Given the description of an element on the screen output the (x, y) to click on. 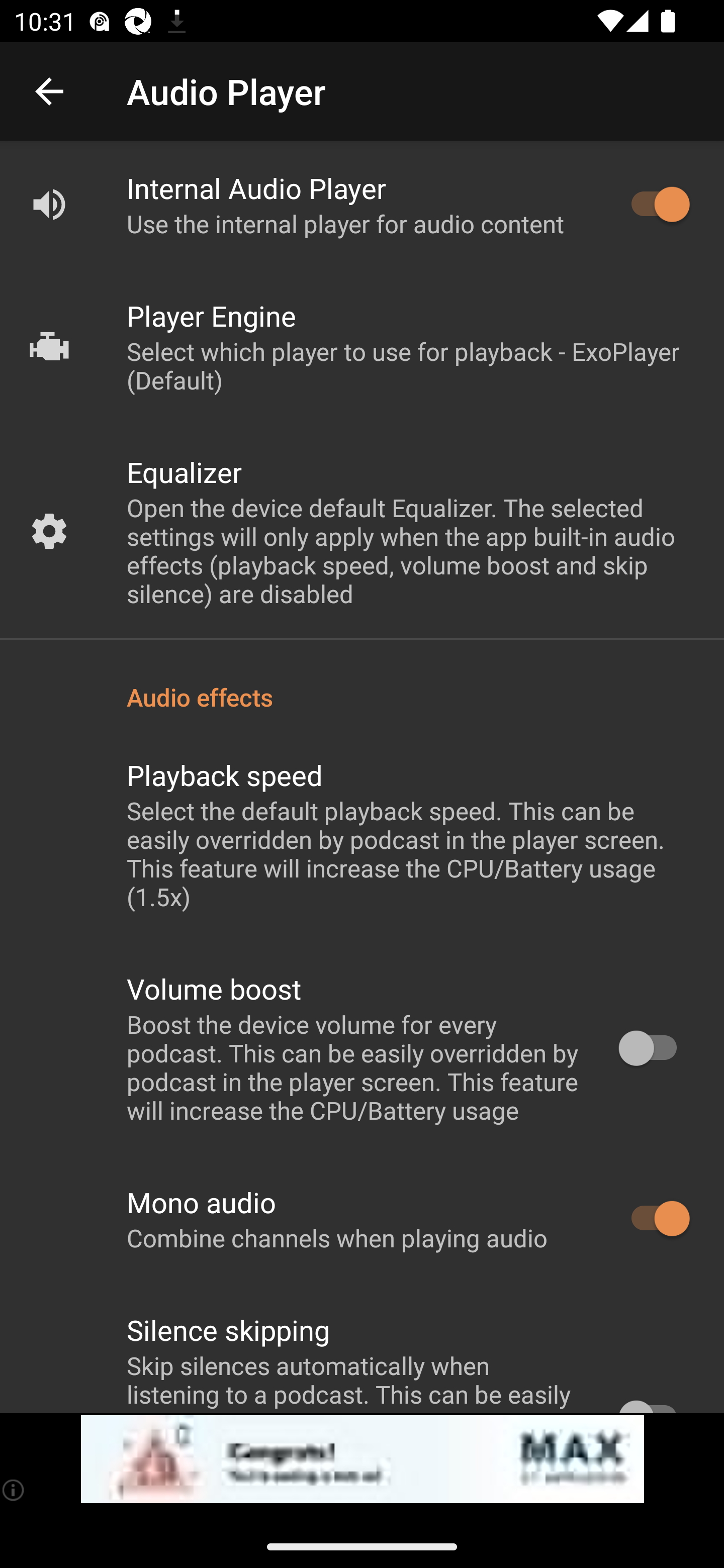
Navigate up (49, 91)
Mono audio Combine channels when playing audio (362, 1218)
app-monetization (362, 1459)
(i) (14, 1489)
